Given the description of an element on the screen output the (x, y) to click on. 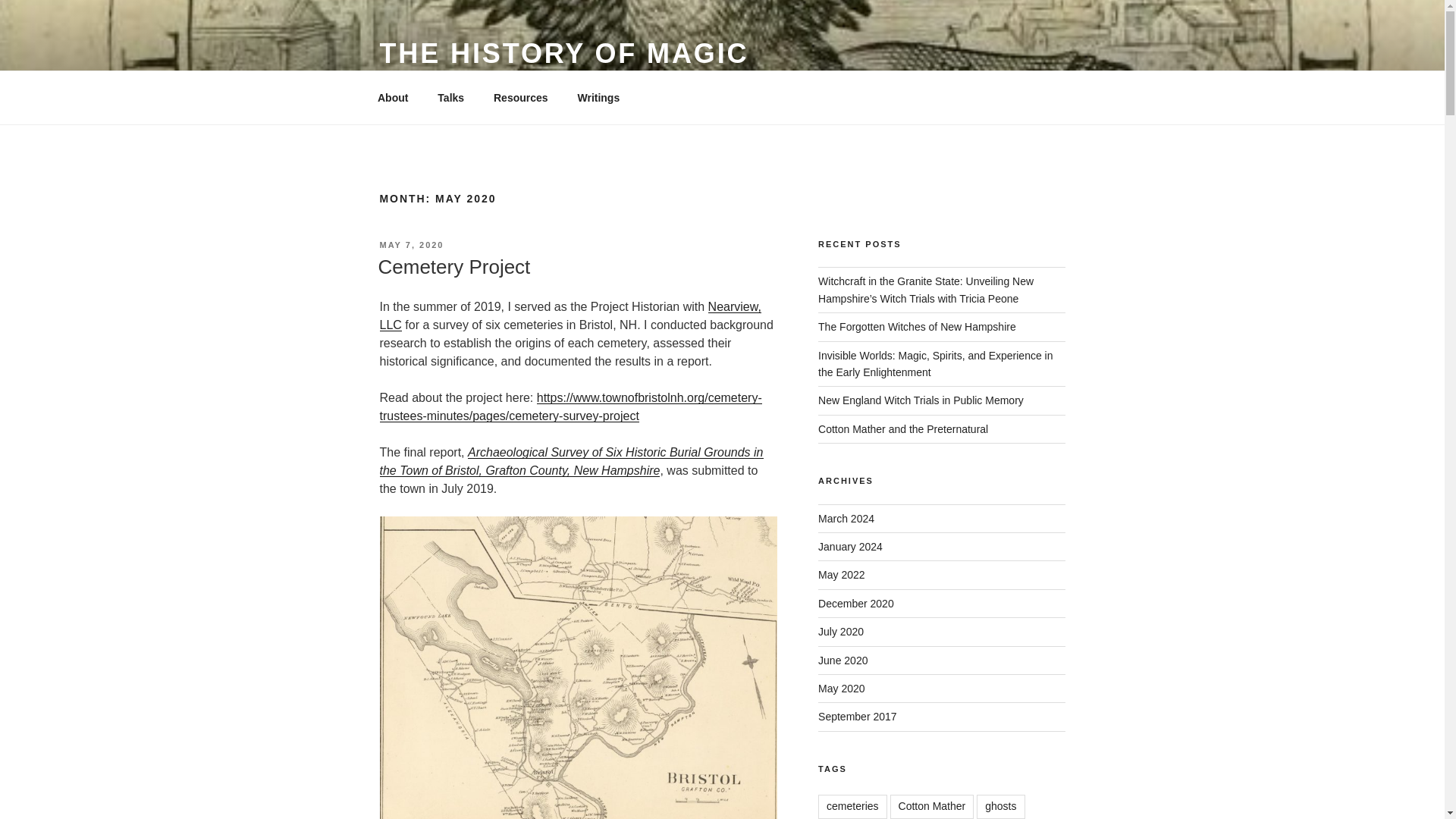
Talks (451, 97)
Resources (520, 97)
About (392, 97)
Cemetery Project (453, 266)
THE HISTORY OF MAGIC (563, 52)
MAY 7, 2020 (411, 244)
Nearview, LLC (569, 315)
Writings (598, 97)
